Given the description of an element on the screen output the (x, y) to click on. 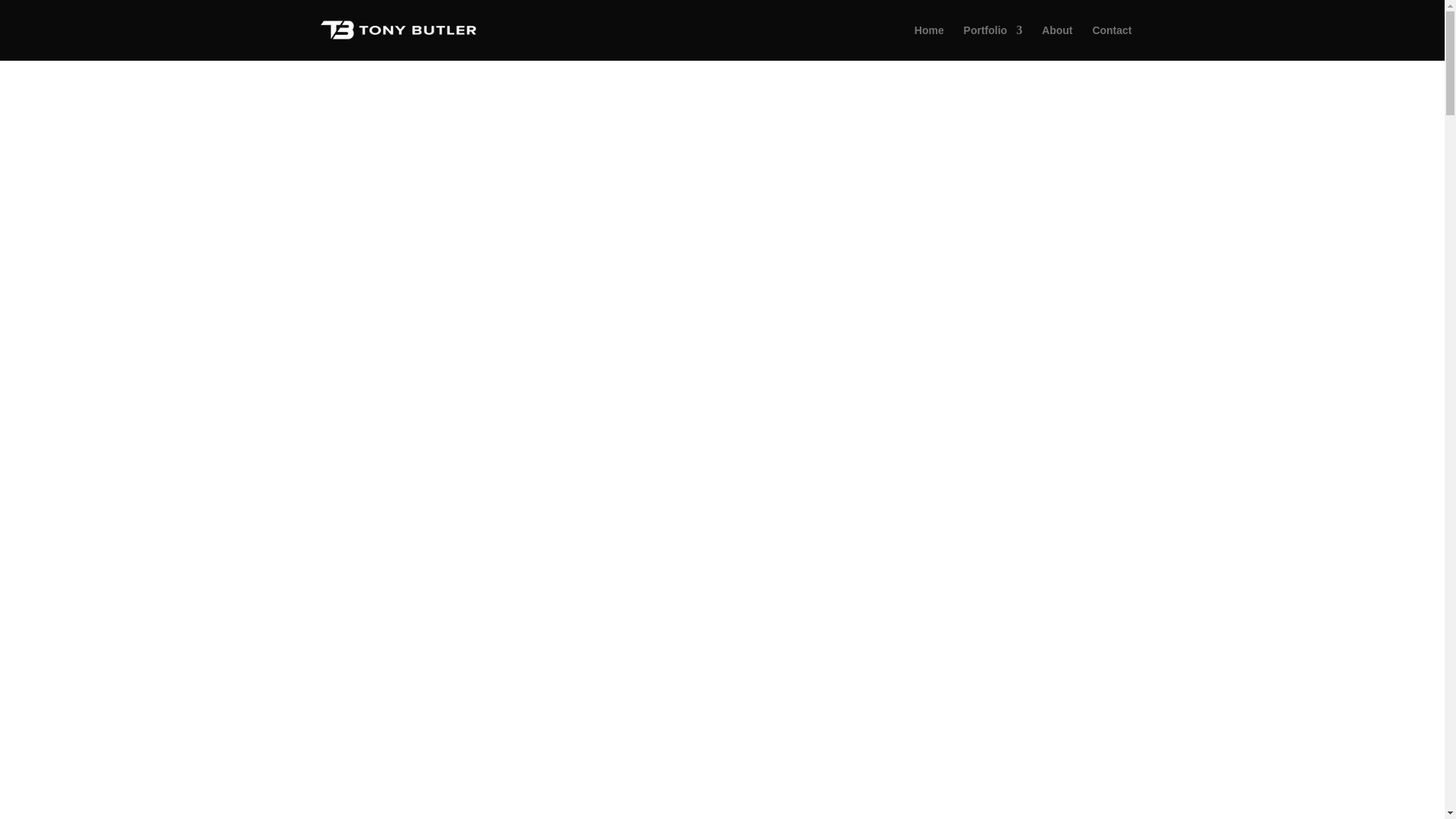
Home (928, 42)
Contact (1111, 42)
Portfolio (993, 42)
About (1056, 42)
